Given the description of an element on the screen output the (x, y) to click on. 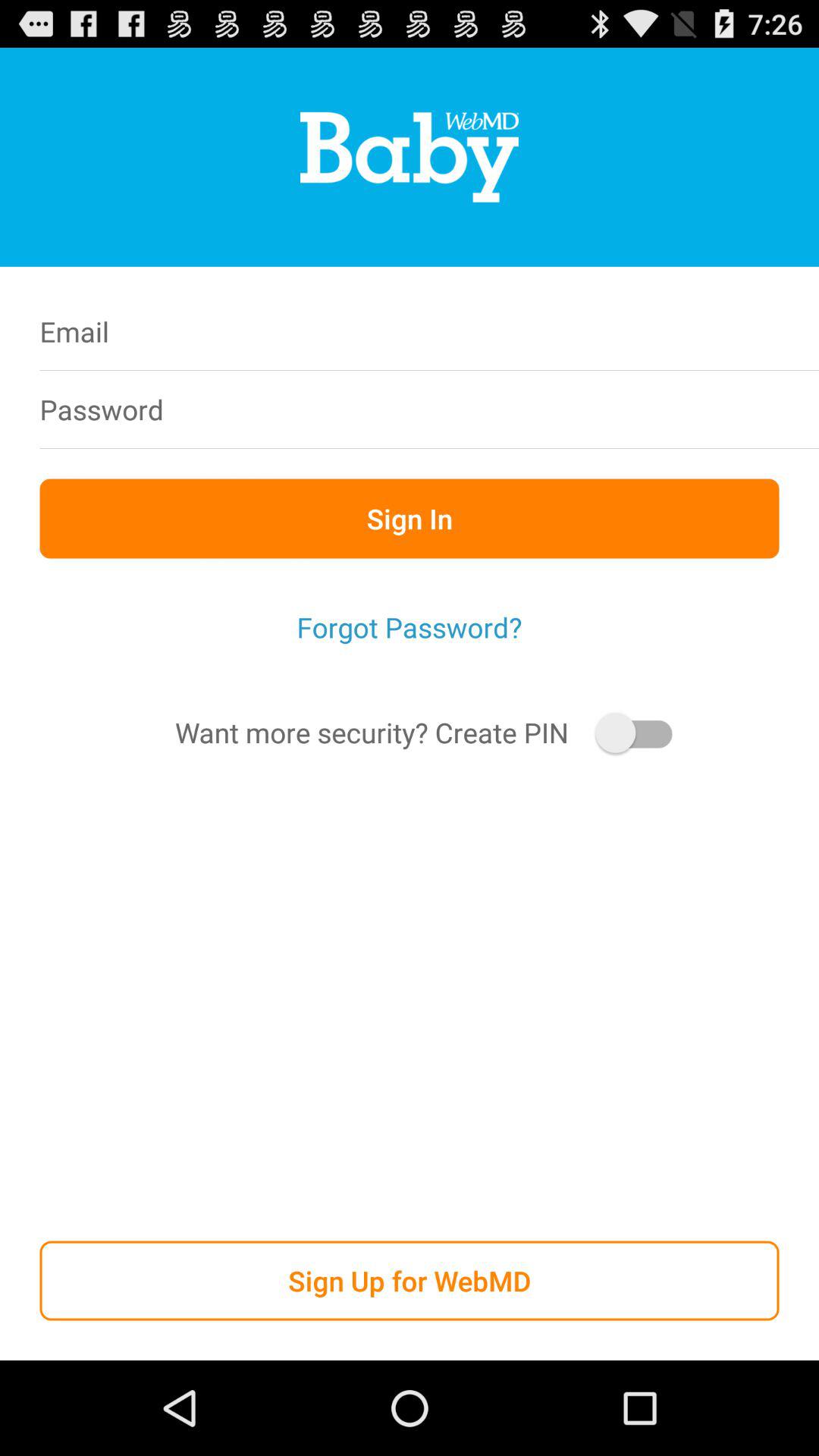
choose the sign up for (409, 1280)
